Given the description of an element on the screen output the (x, y) to click on. 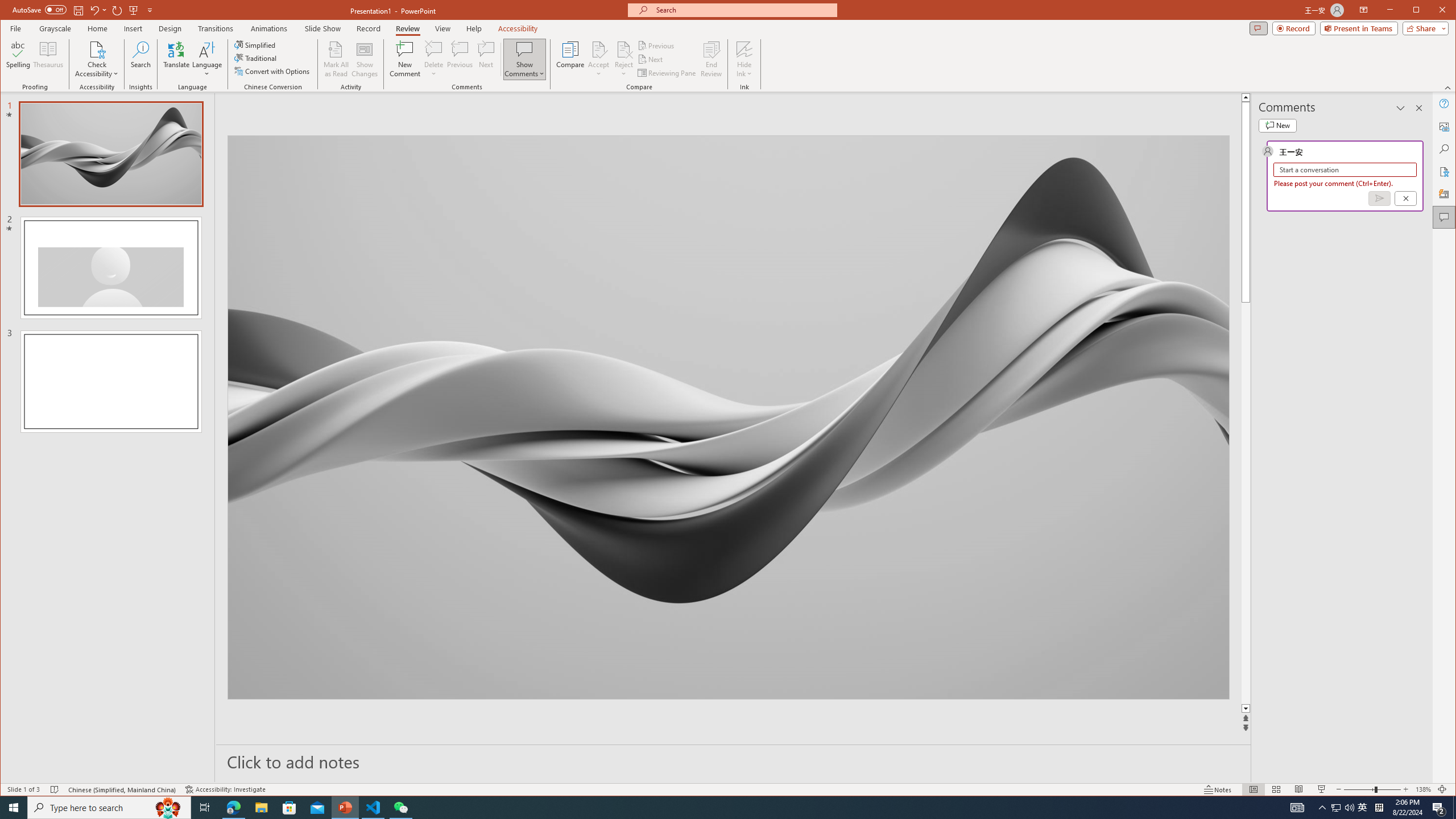
Start a conversation (1344, 169)
Previous (657, 45)
WeChat - 1 running window (400, 807)
Simplified (255, 44)
